Given the description of an element on the screen output the (x, y) to click on. 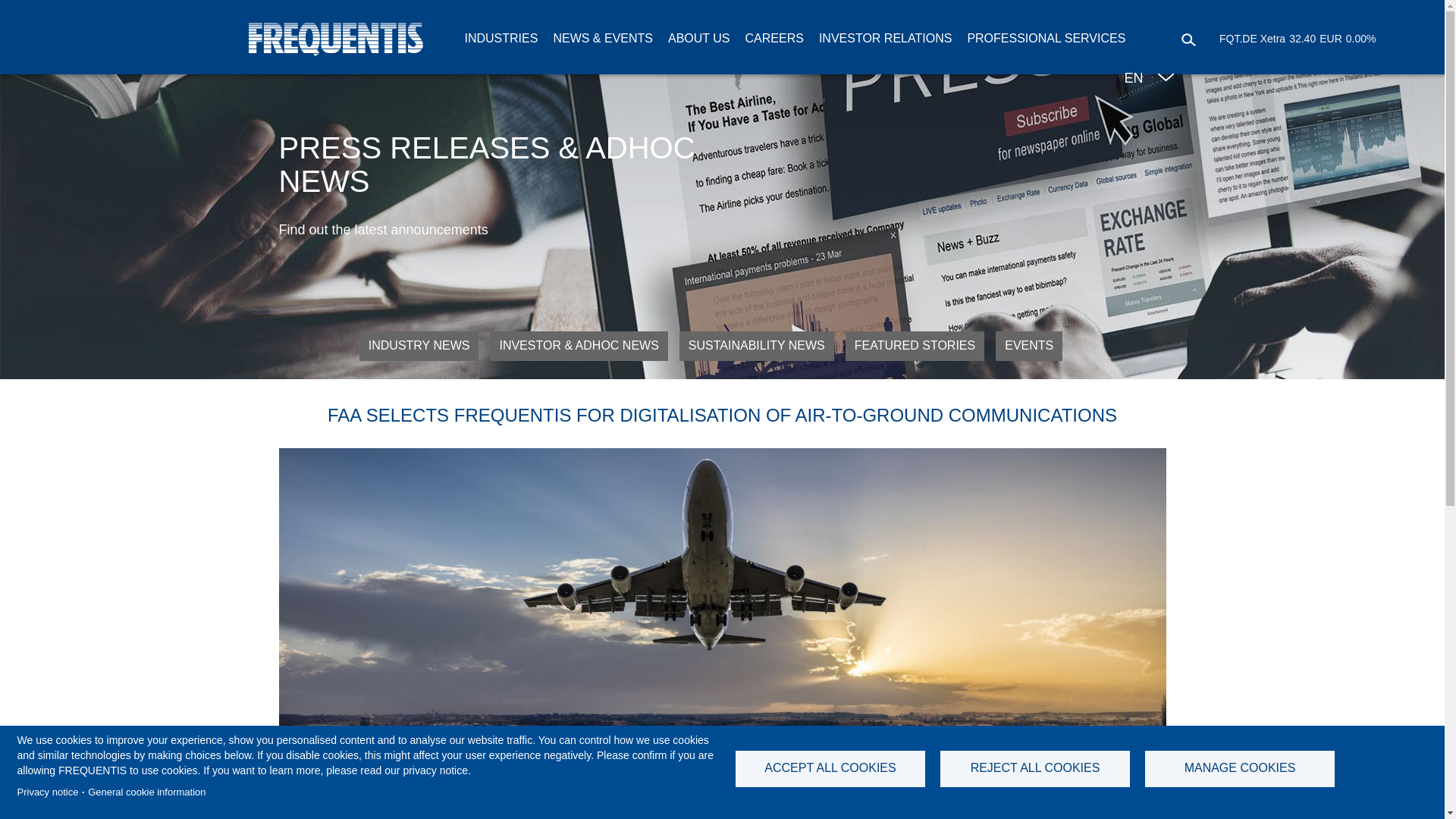
INDUSTRIES (501, 38)
